Given the description of an element on the screen output the (x, y) to click on. 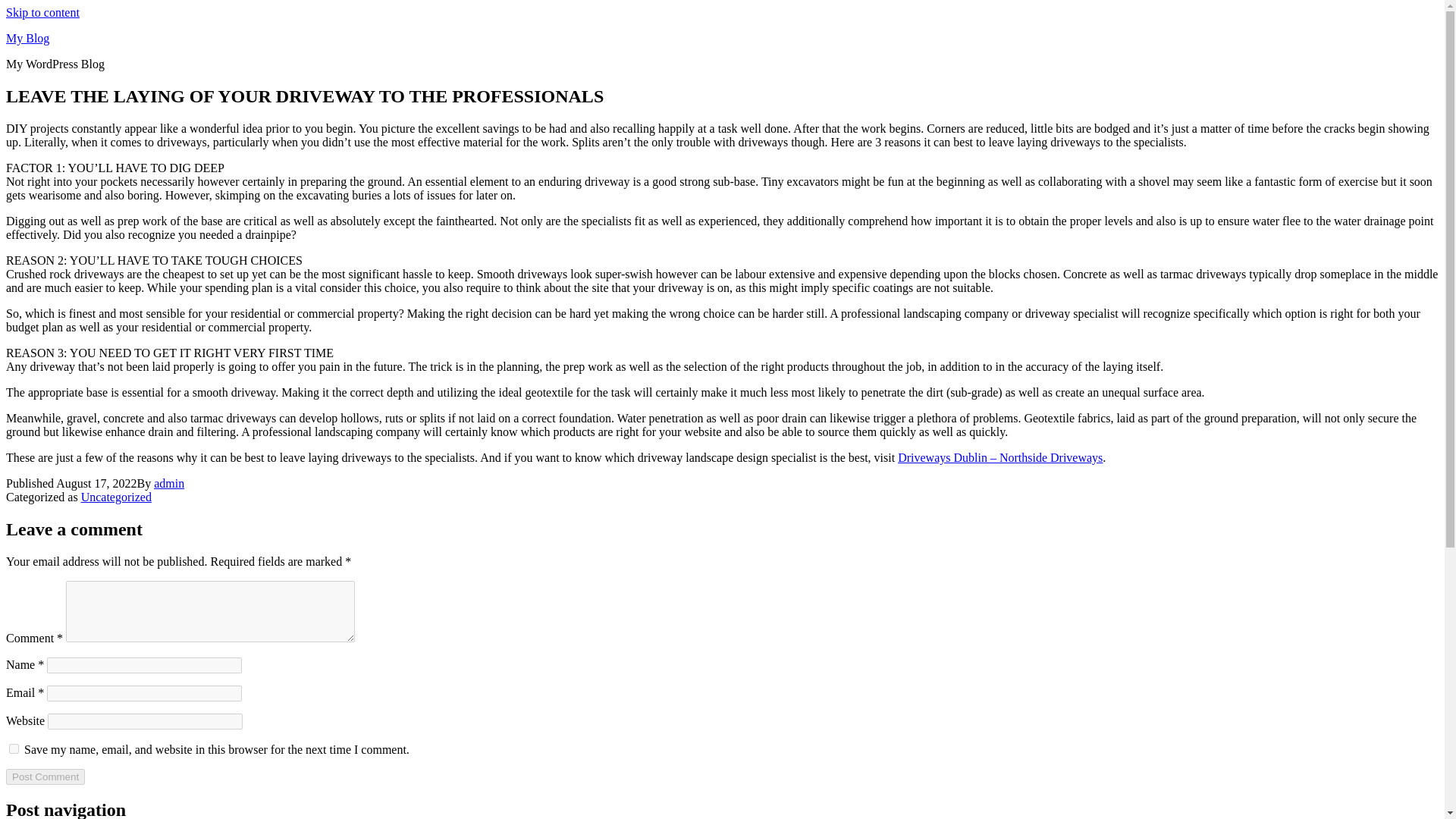
Skip to content (42, 11)
Post Comment (44, 776)
Post Comment (44, 776)
yes (13, 748)
Uncategorized (116, 496)
My Blog (27, 38)
admin (169, 482)
